Given the description of an element on the screen output the (x, y) to click on. 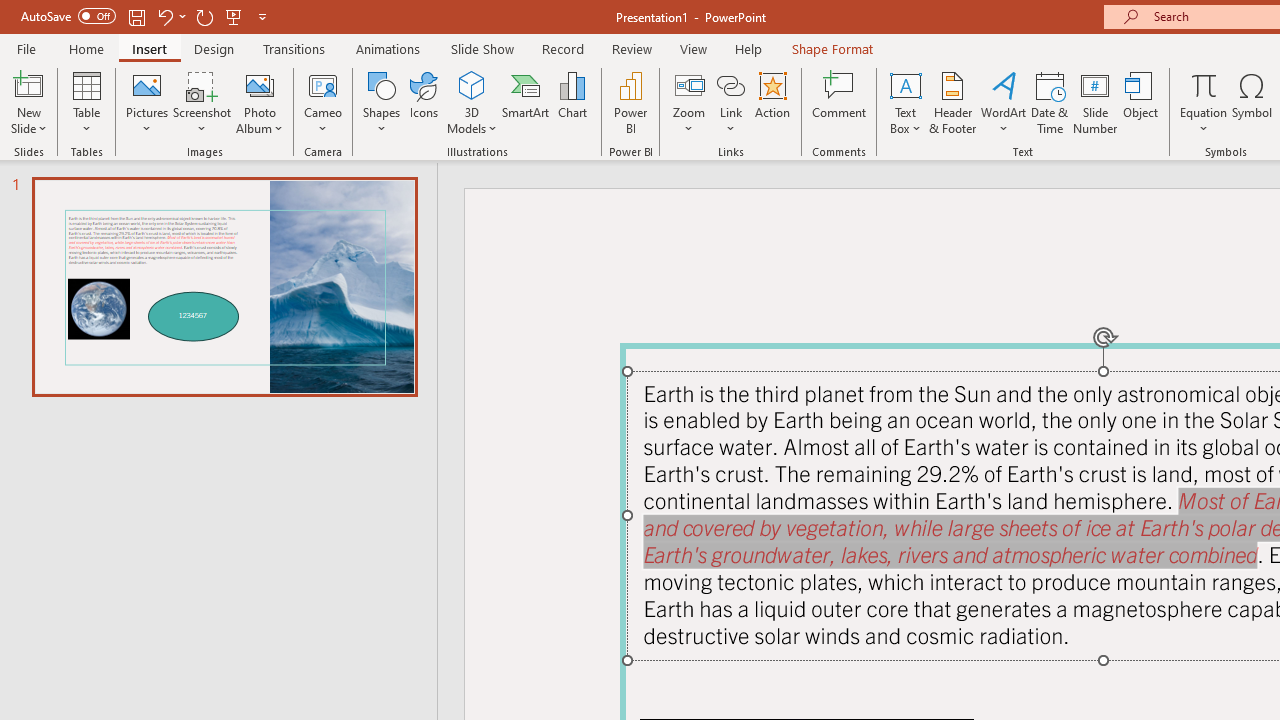
Icons (424, 102)
Symbol... (1252, 102)
Photo Album... (259, 102)
Slide Number (1095, 102)
